Given the description of an element on the screen output the (x, y) to click on. 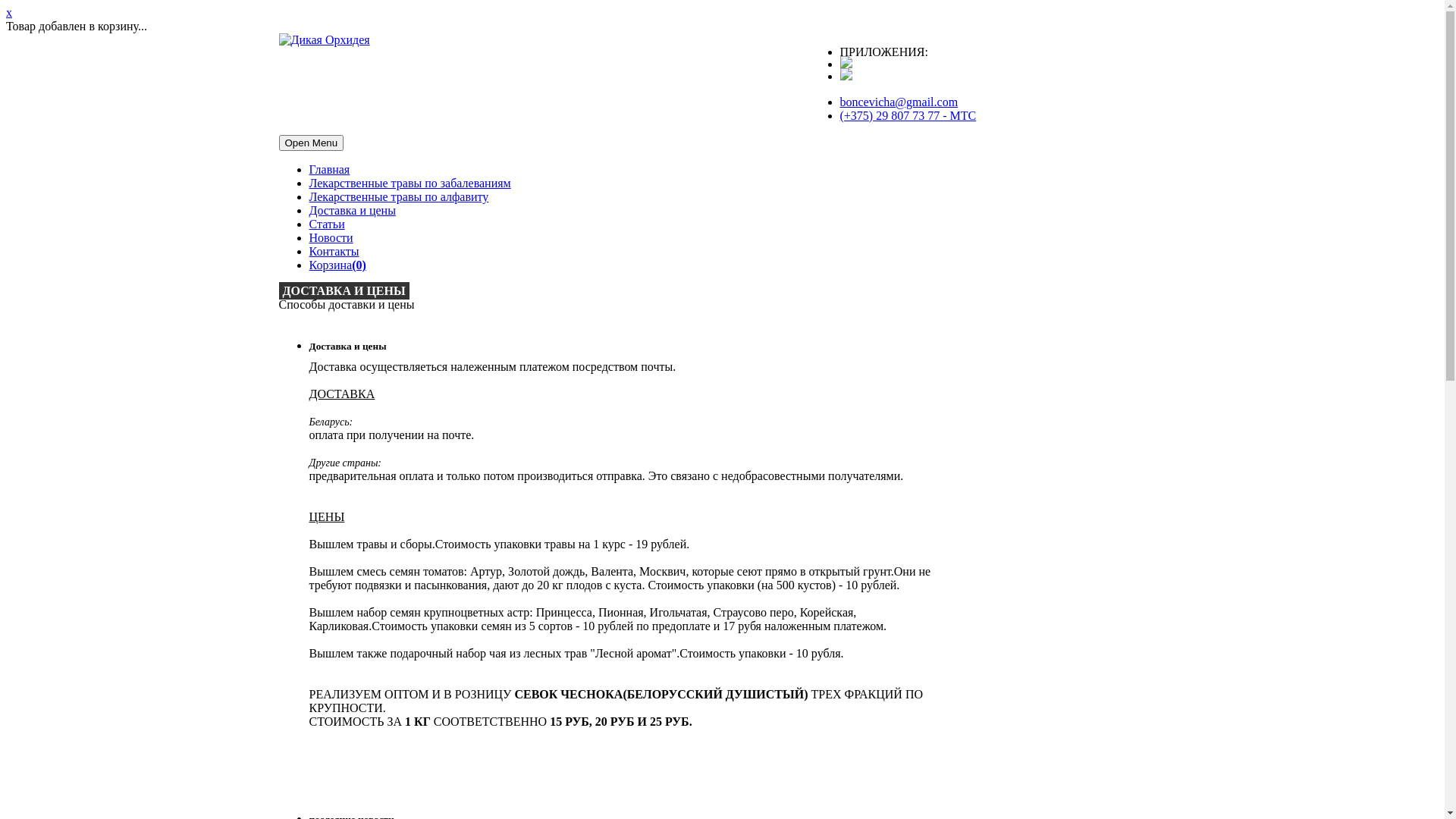
Open Menu Element type: text (311, 142)
x Element type: text (9, 12)
boncevicha@gmail.com Element type: text (899, 101)
